Given the description of an element on the screen output the (x, y) to click on. 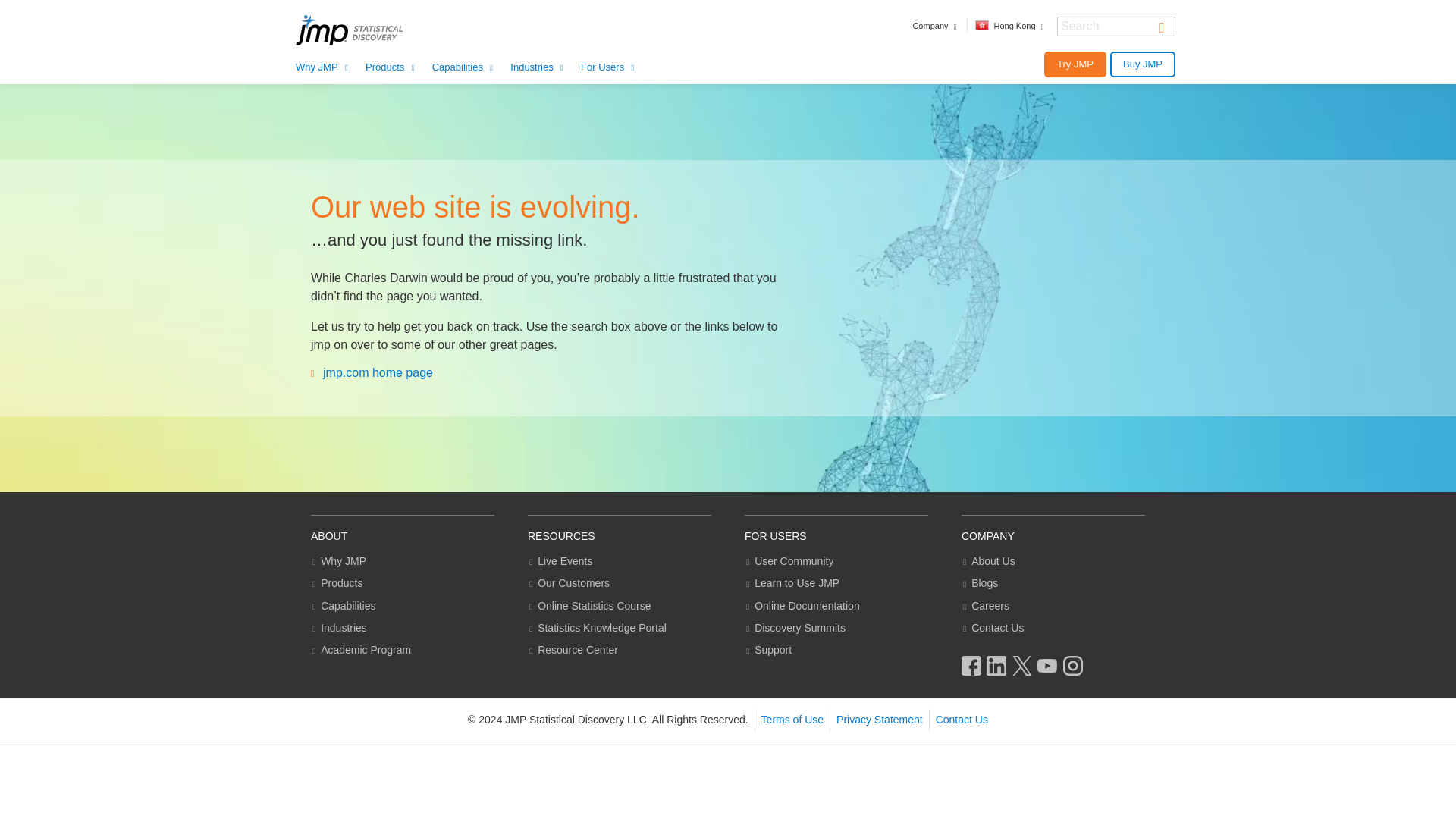
Search (1162, 25)
Hong Kong (1010, 25)
JMP Statistical Discovery (368, 30)
Company (935, 25)
Search (1162, 25)
